Given the description of an element on the screen output the (x, y) to click on. 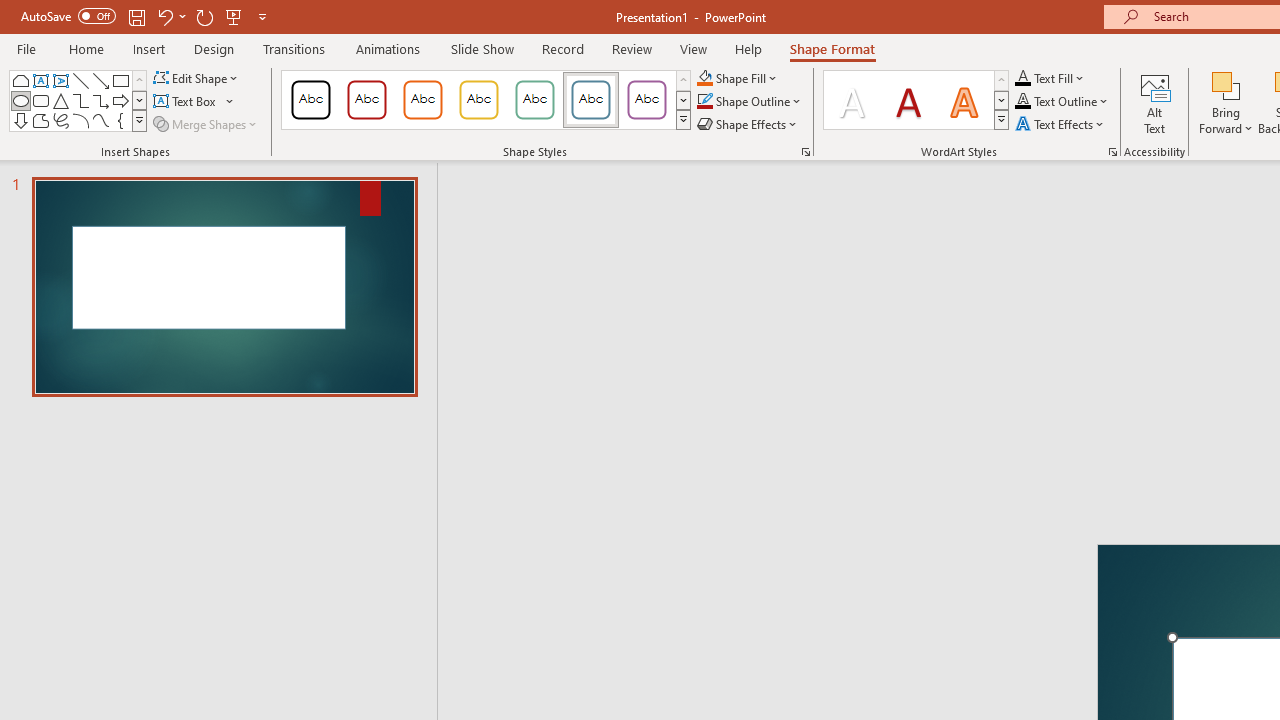
Shape Outline No Outline (704, 101)
Edit Shape (196, 78)
Colored Outline - Dark Red, Accent 1 (367, 100)
Colored Outline - Orange, Accent 2 (422, 100)
Bring Forward (1225, 102)
Text Fill (1050, 78)
